Given the description of an element on the screen output the (x, y) to click on. 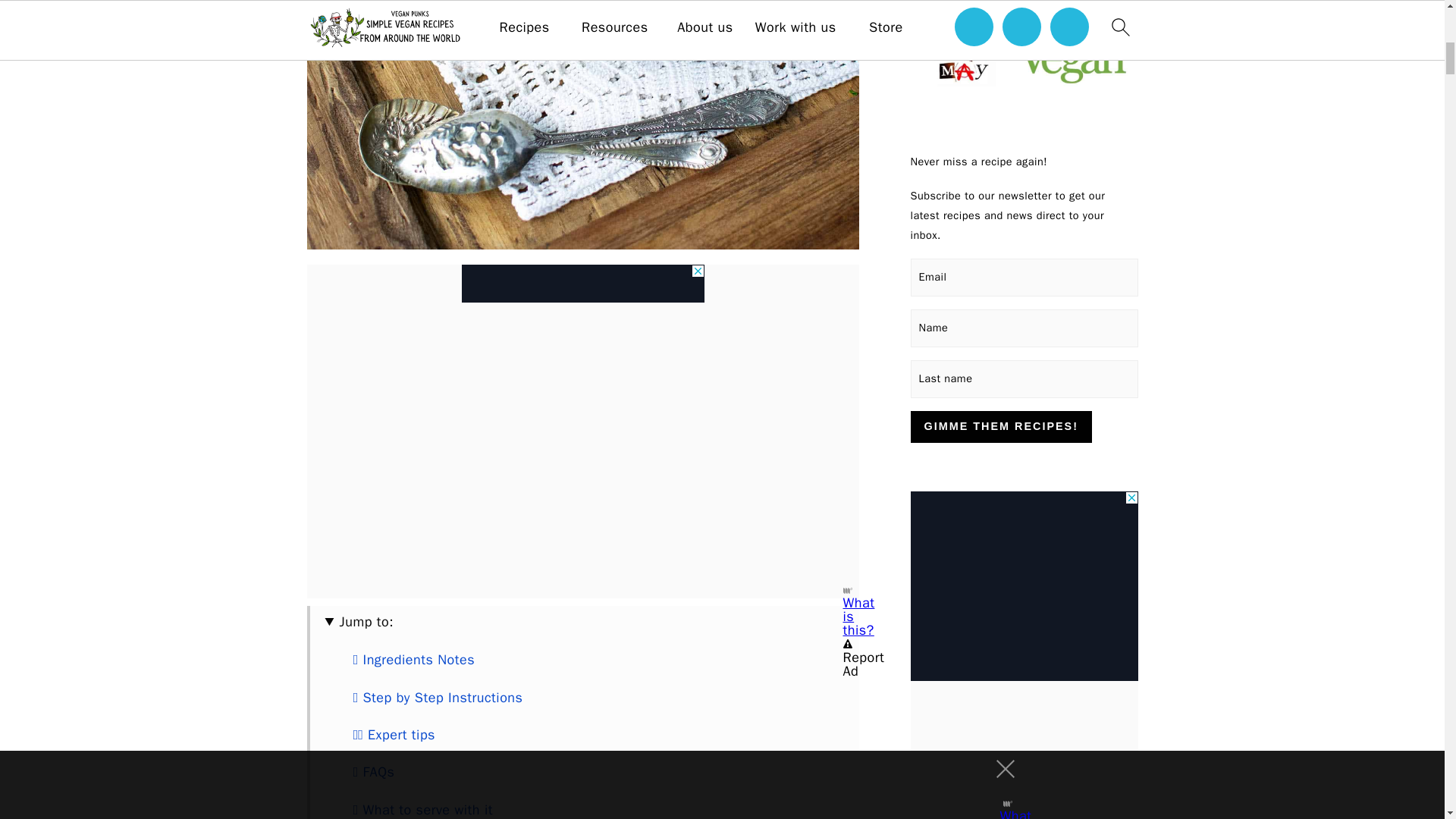
3rd party ad content (582, 283)
